Given the description of an element on the screen output the (x, y) to click on. 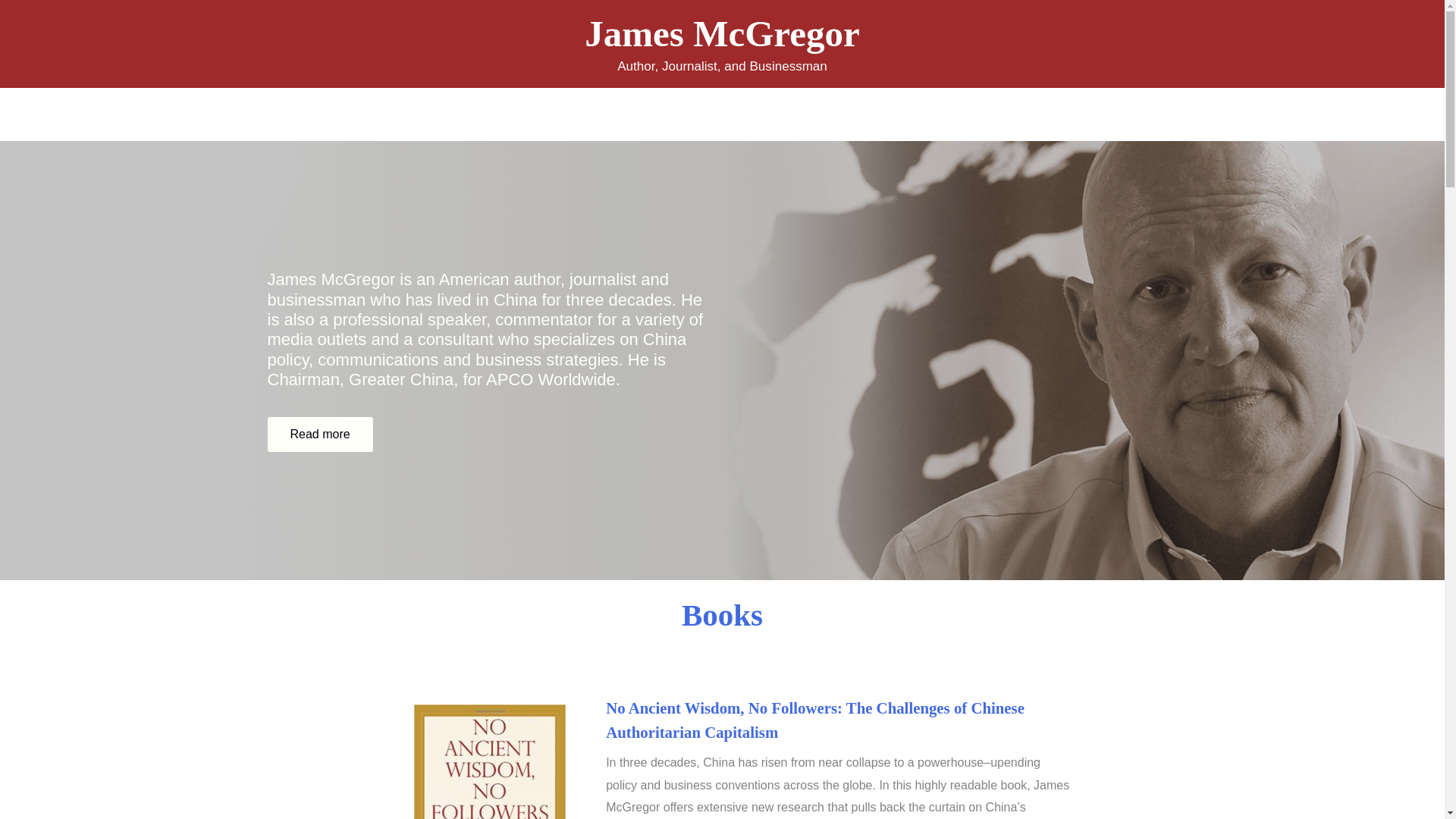
Contact (909, 113)
James McGregor (722, 33)
Read more (319, 434)
Consulting (740, 113)
About (530, 113)
Books (721, 614)
Books (590, 113)
Speaking (658, 113)
In the News (829, 113)
